Given the description of an element on the screen output the (x, y) to click on. 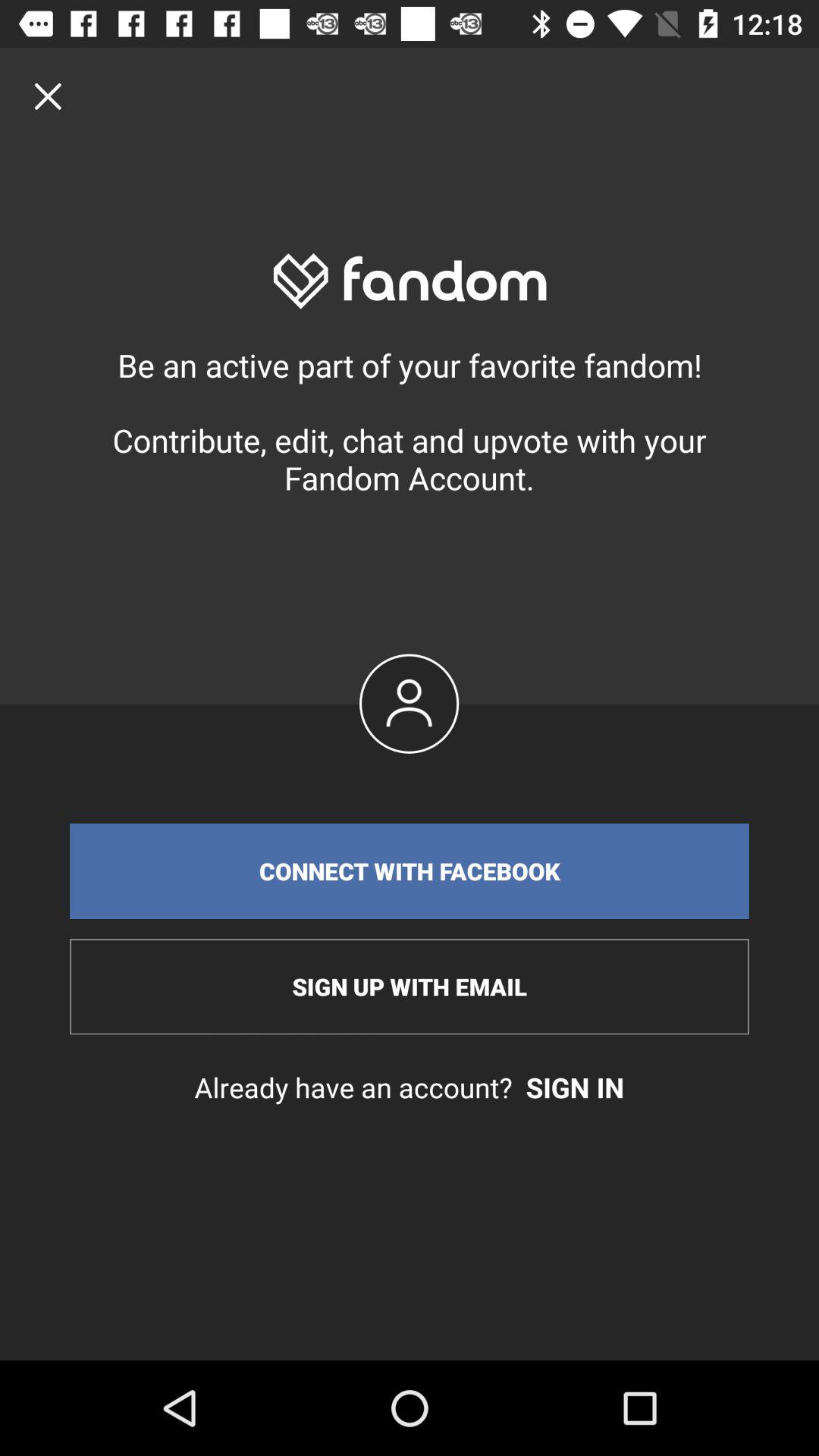
launch the icon at the top left corner (47, 95)
